Given the description of an element on the screen output the (x, y) to click on. 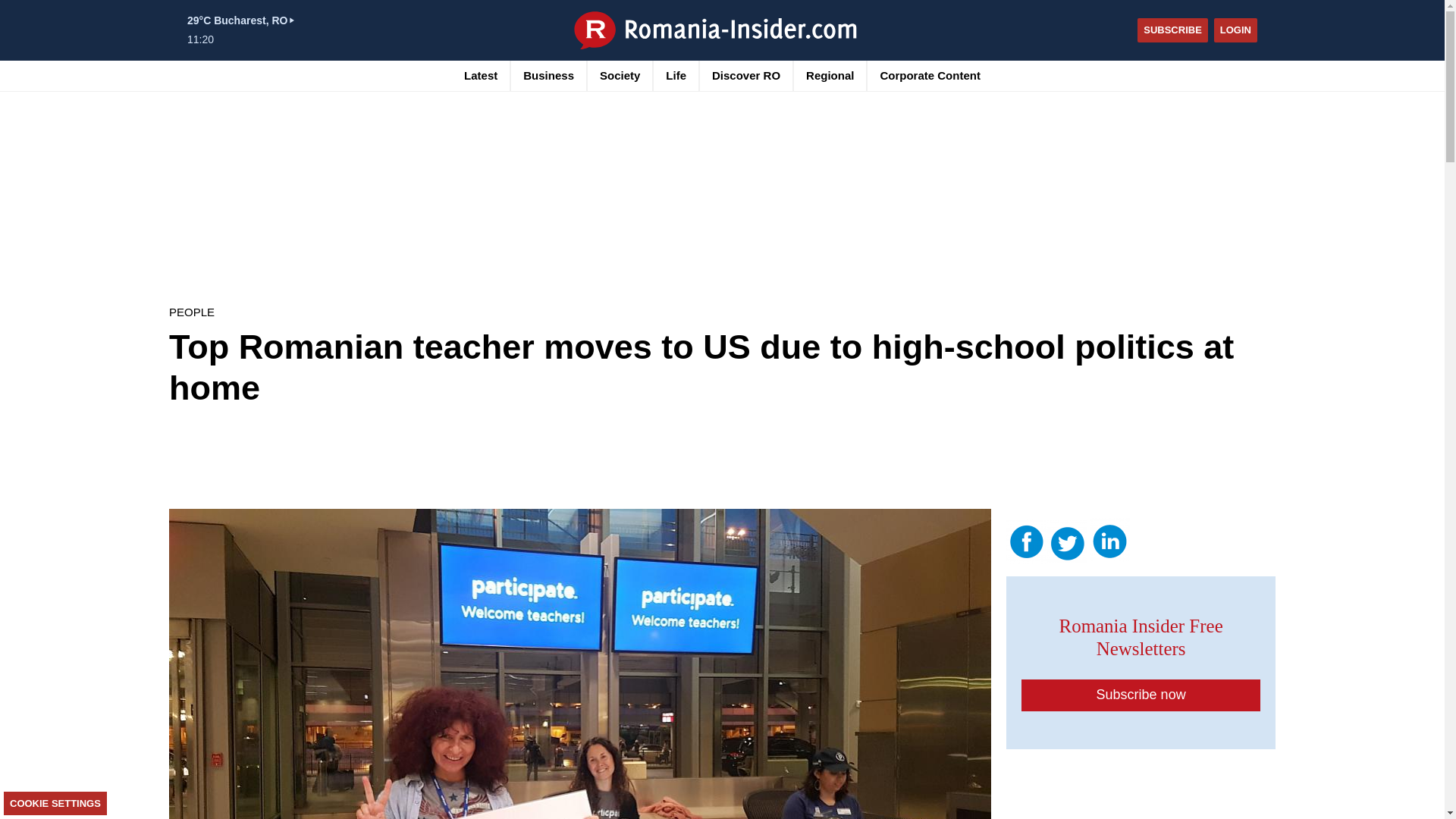
Latest (480, 74)
LOGIN (1235, 30)
Society (619, 74)
Business (547, 74)
SUBSCRIBE (1172, 30)
